Given the description of an element on the screen output the (x, y) to click on. 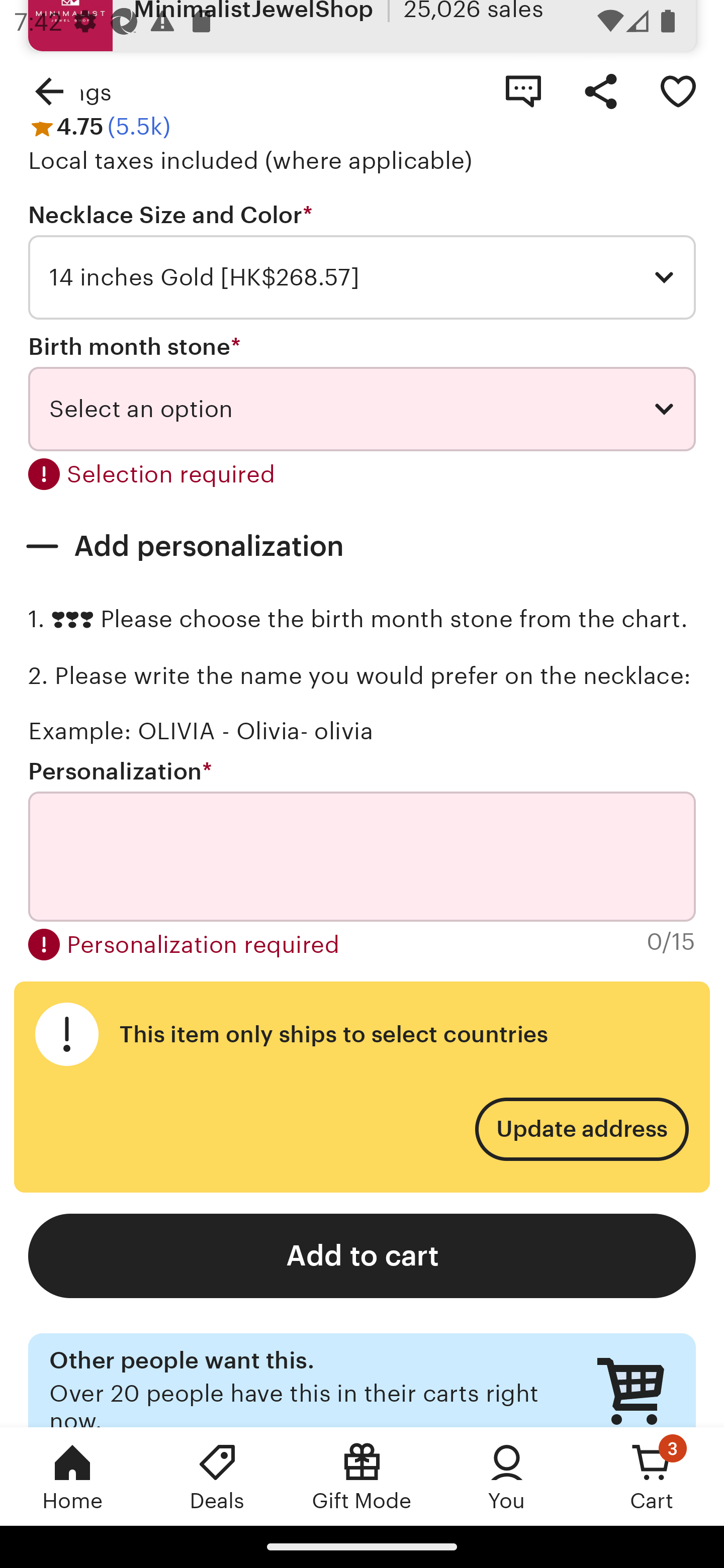
Navigate up (49, 90)
Contact shop (523, 90)
Share (600, 90)
4.75 (5.5k) (99, 126)
14 inches Gold [HK$268.57] (361, 277)
Select an option (361, 408)
Add personalization Add personalization Required (362, 545)
Update address (581, 1128)
Add to cart (361, 1255)
Deals (216, 1475)
Gift Mode (361, 1475)
You (506, 1475)
Cart, 3 new notifications Cart (651, 1475)
